Given the description of an element on the screen output the (x, y) to click on. 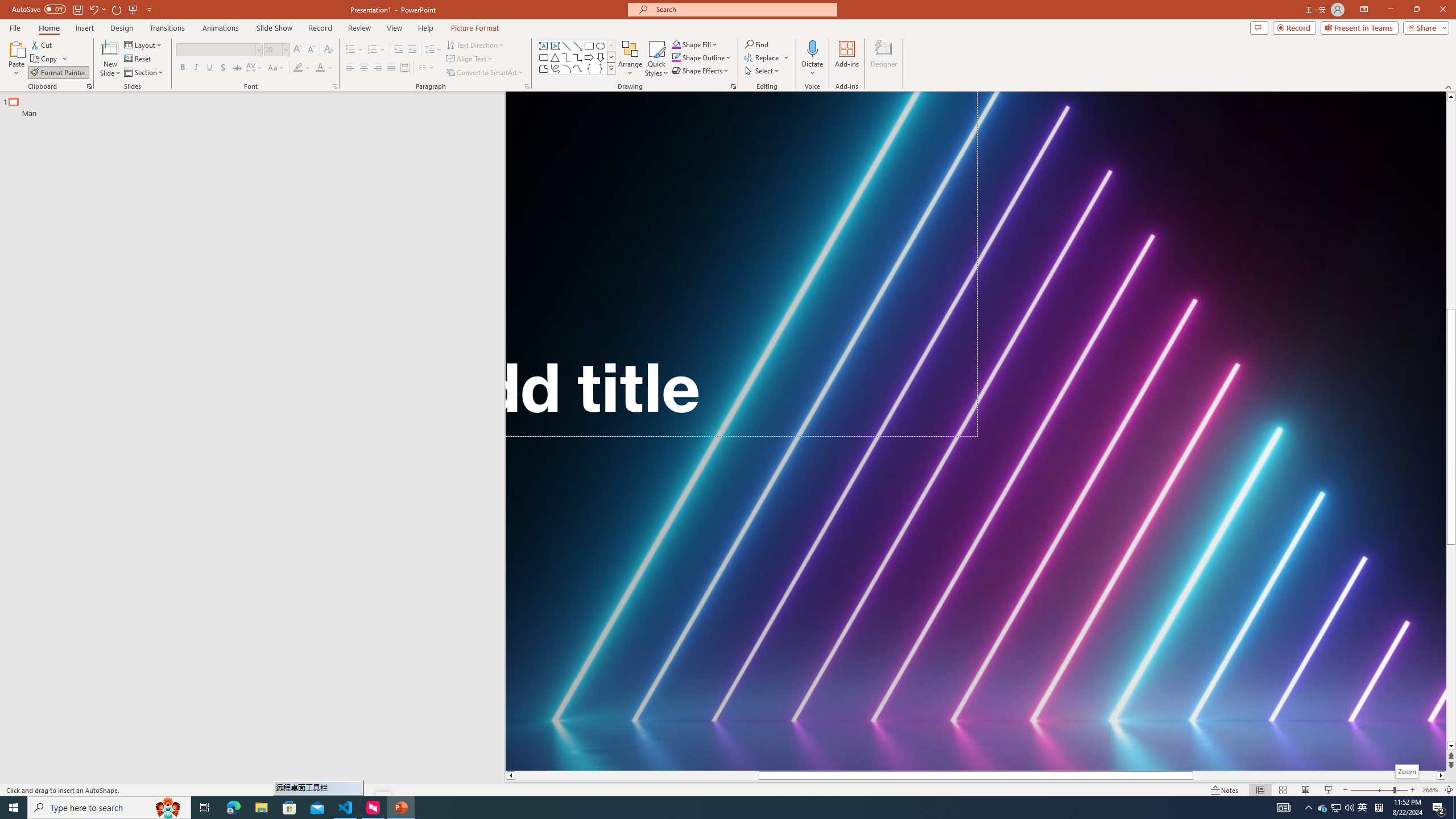
Picture Format (475, 28)
